Given the description of an element on the screen output the (x, y) to click on. 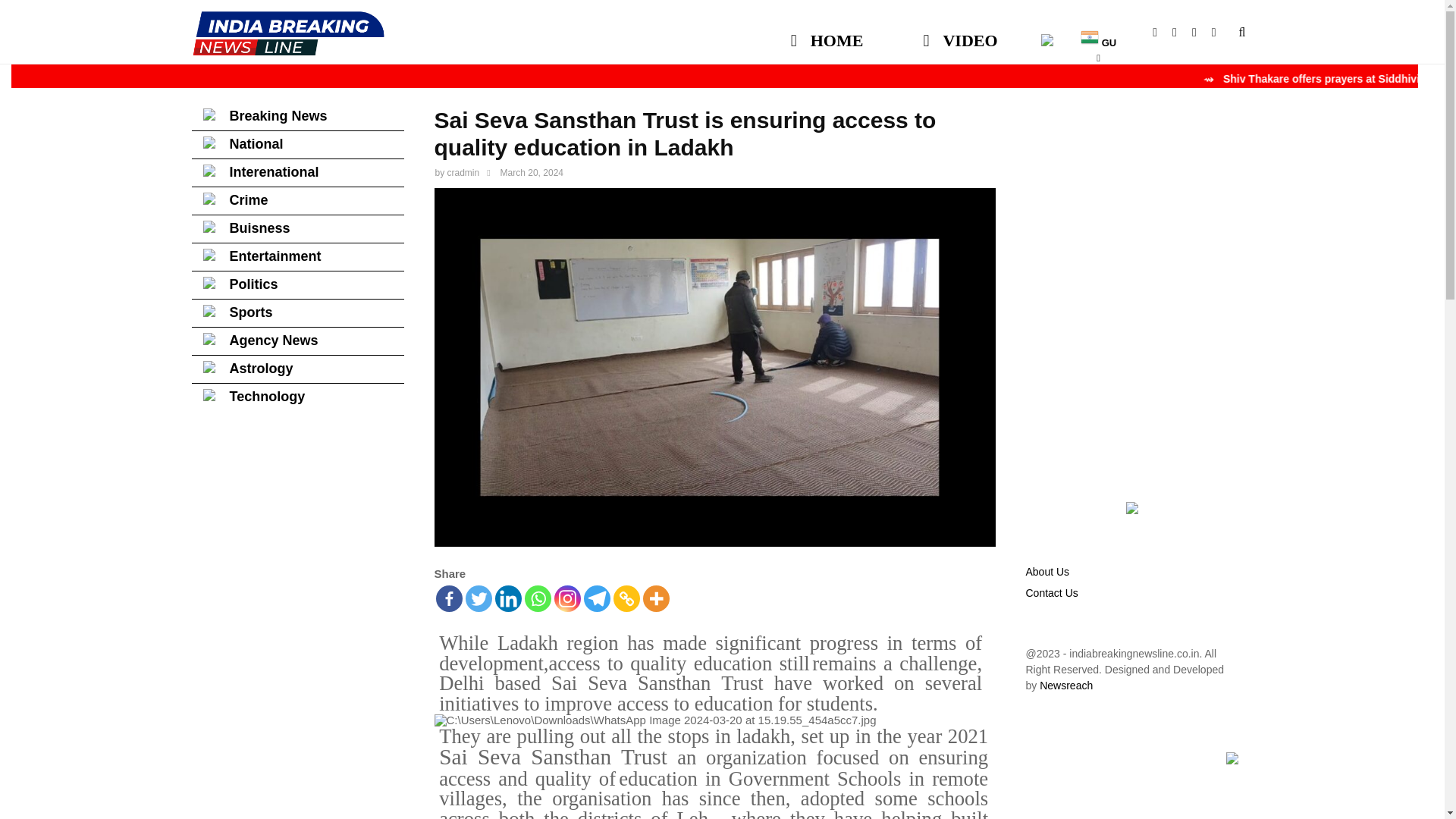
HOME (826, 33)
Copy Link (625, 598)
Instagram (566, 598)
Twitter (478, 598)
Linkedin (508, 598)
Gujarati (1098, 33)
VIDEO (960, 33)
Telegram (596, 598)
Email (1201, 31)
Facebook (448, 598)
Youtube (1182, 31)
Facebook (1162, 31)
GU (1098, 33)
Whatsapp (537, 598)
Whatsapp (1221, 31)
